Given the description of an element on the screen output the (x, y) to click on. 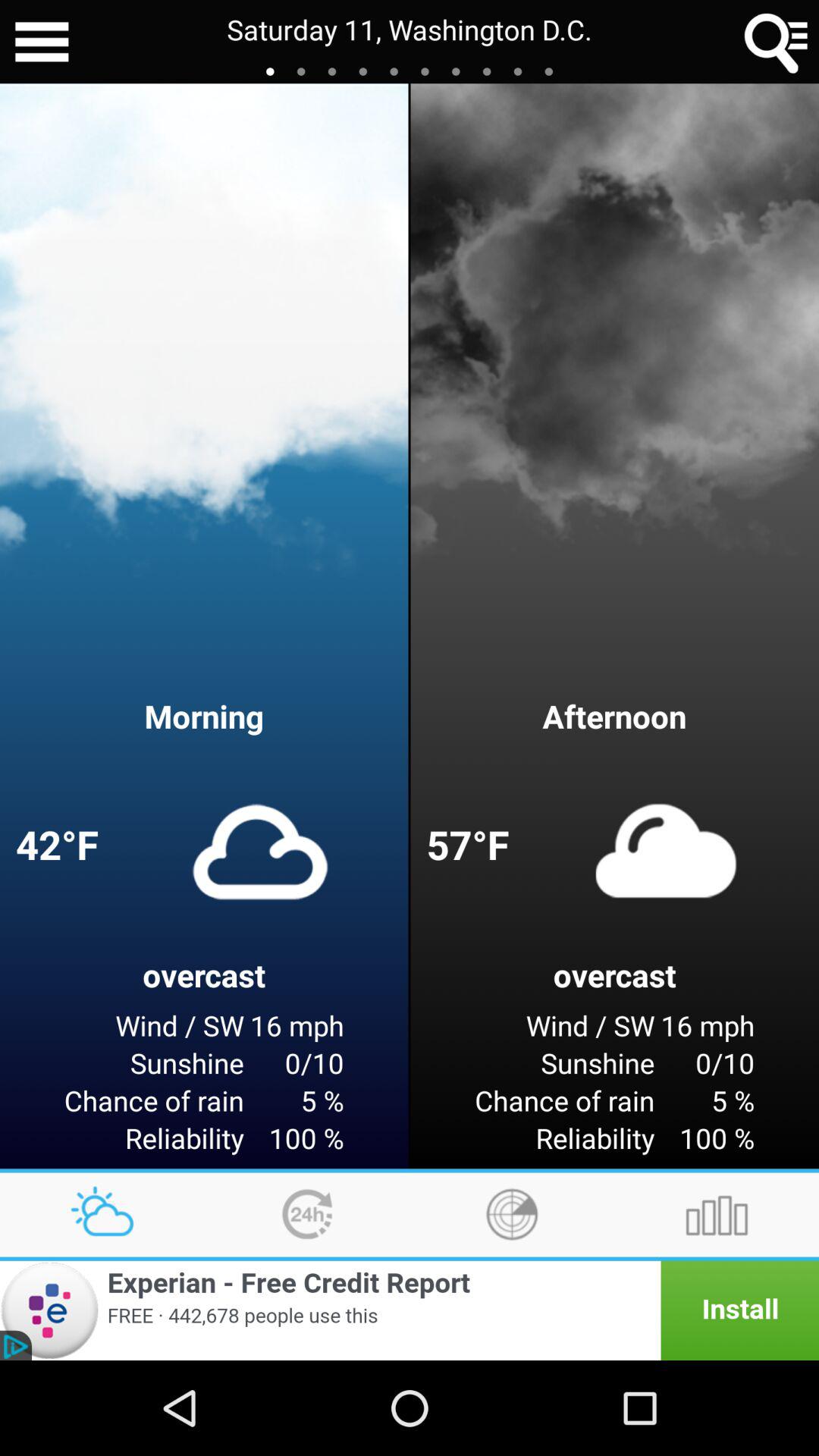
go to the menu items (41, 41)
